Given the description of an element on the screen output the (x, y) to click on. 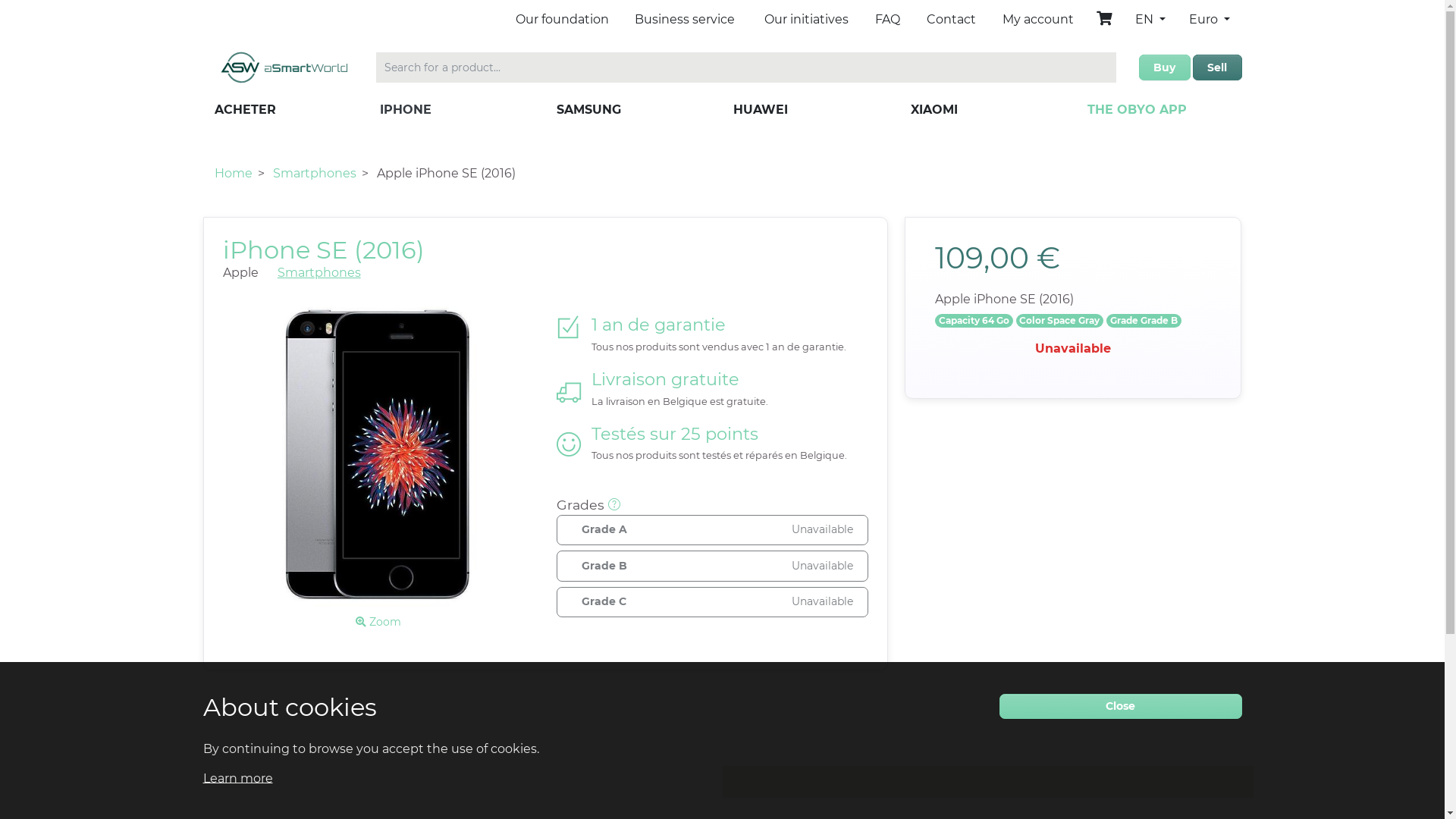
Smartphones Element type: text (318, 272)
My account Element type: text (1037, 19)
Learn more Element type: text (238, 775)
HUAWEI Element type: text (760, 109)
FAQ Element type: text (887, 19)
THE OBYO APP Element type: text (1136, 109)
Smartphones Element type: text (314, 172)
Contact Element type: text (950, 19)
SAMSUNG Element type: text (588, 109)
Grade Grade B Element type: text (1143, 320)
Euro Element type: text (1209, 24)
Capacity 64 Go Element type: text (974, 320)
Our foundation Element type: text (561, 19)
Buy Element type: text (1164, 67)
Business service Element type: text (684, 19)
iPhone SE (2016) Element type: text (323, 249)
ACHETER Element type: text (244, 109)
Color Space Gray Element type: text (1060, 320)
XIAOMI Element type: text (933, 109)
Sell Element type: text (1216, 67)
IPHONE Element type: text (405, 109)
Close Element type: text (1120, 705)
EN Element type: text (1150, 19)
Our initiatives Element type: text (806, 19)
Home Element type: text (232, 172)
Zoom Element type: text (377, 622)
